Given the description of an element on the screen output the (x, y) to click on. 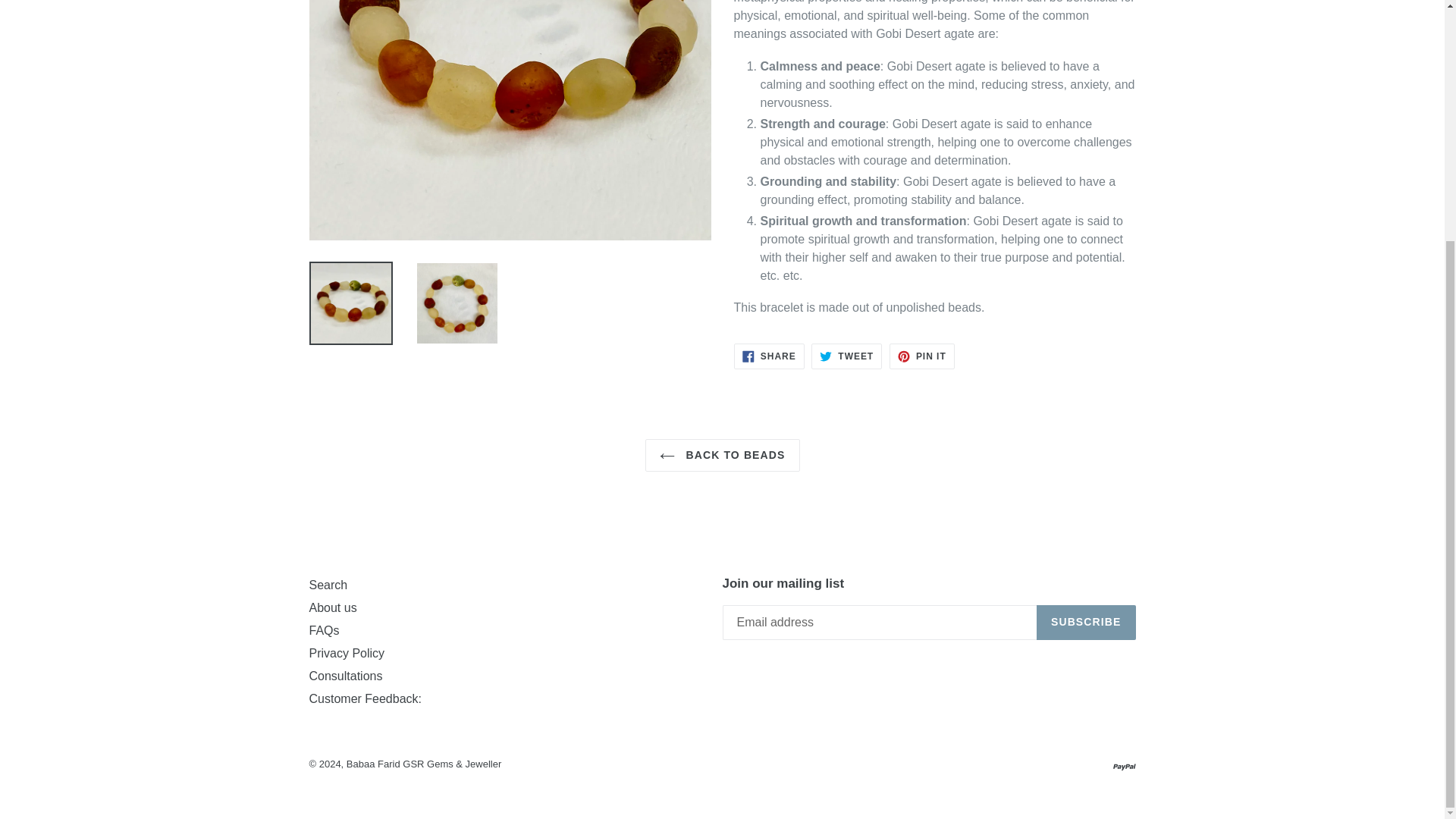
Pin on Pinterest (922, 356)
Tweet on Twitter (846, 356)
Share on Facebook (769, 356)
